Given the description of an element on the screen output the (x, y) to click on. 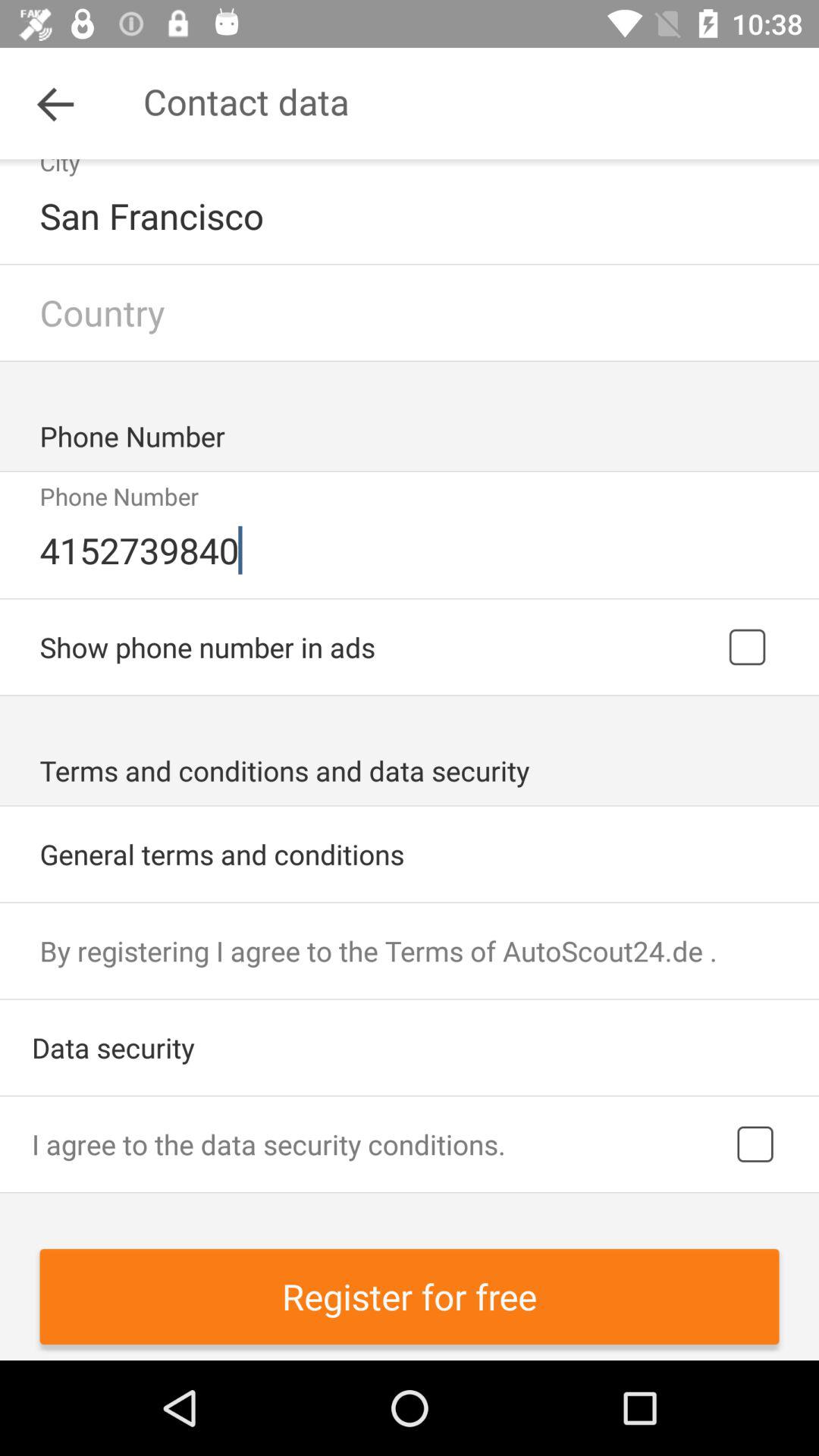
type in country (409, 312)
